Given the description of an element on the screen output the (x, y) to click on. 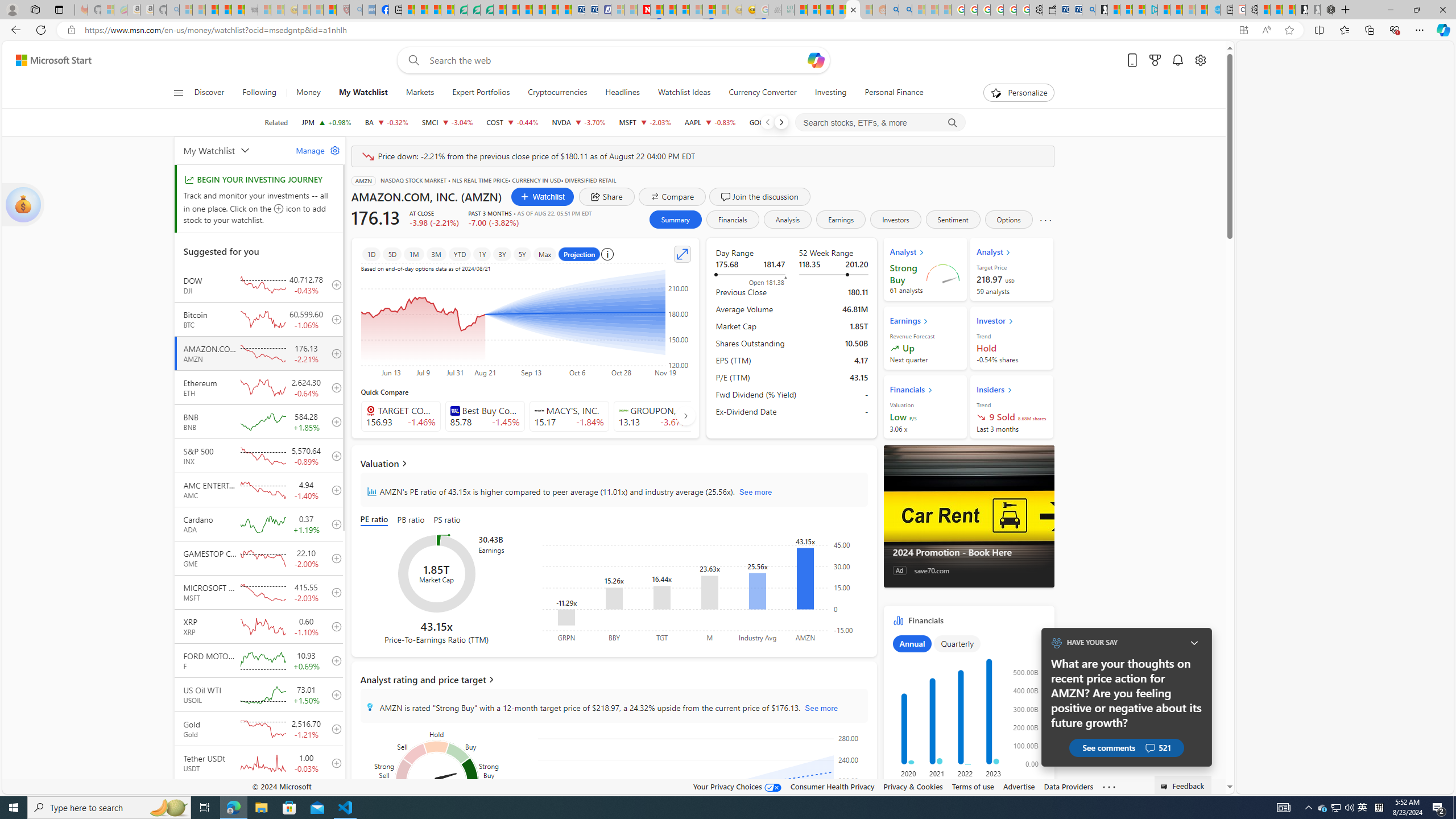
Financials (968, 707)
Options (1008, 219)
Cryptocurrencies (557, 92)
The Weather Channel - MSN (212, 9)
PE ratio (376, 520)
Expert Portfolios (480, 92)
LendingTree - Compare Lenders (460, 9)
2024 Promotion - Book Here (968, 552)
Personal Finance (893, 92)
